Given the description of an element on the screen output the (x, y) to click on. 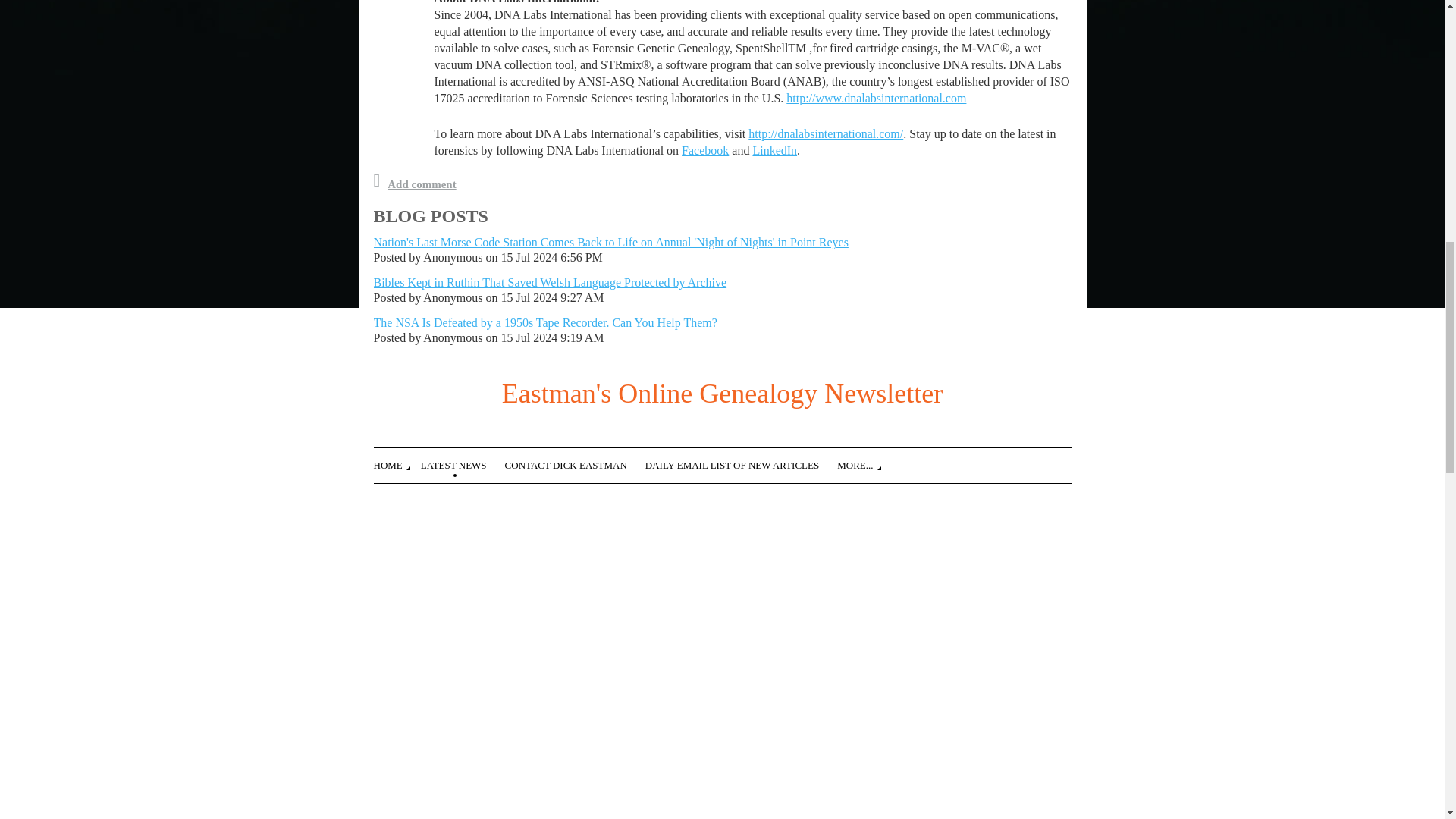
null (825, 133)
Home (396, 463)
Daily Email List of New Articles (741, 463)
HOME (396, 463)
CONTACT DICK EASTMAN (575, 463)
null (876, 97)
MORE... (864, 463)
DAILY EMAIL LIST OF NEW ARTICLES (741, 463)
LinkedIn (774, 150)
null (774, 150)
LATEST NEWS (462, 463)
Latest News (462, 463)
